Given the description of an element on the screen output the (x, y) to click on. 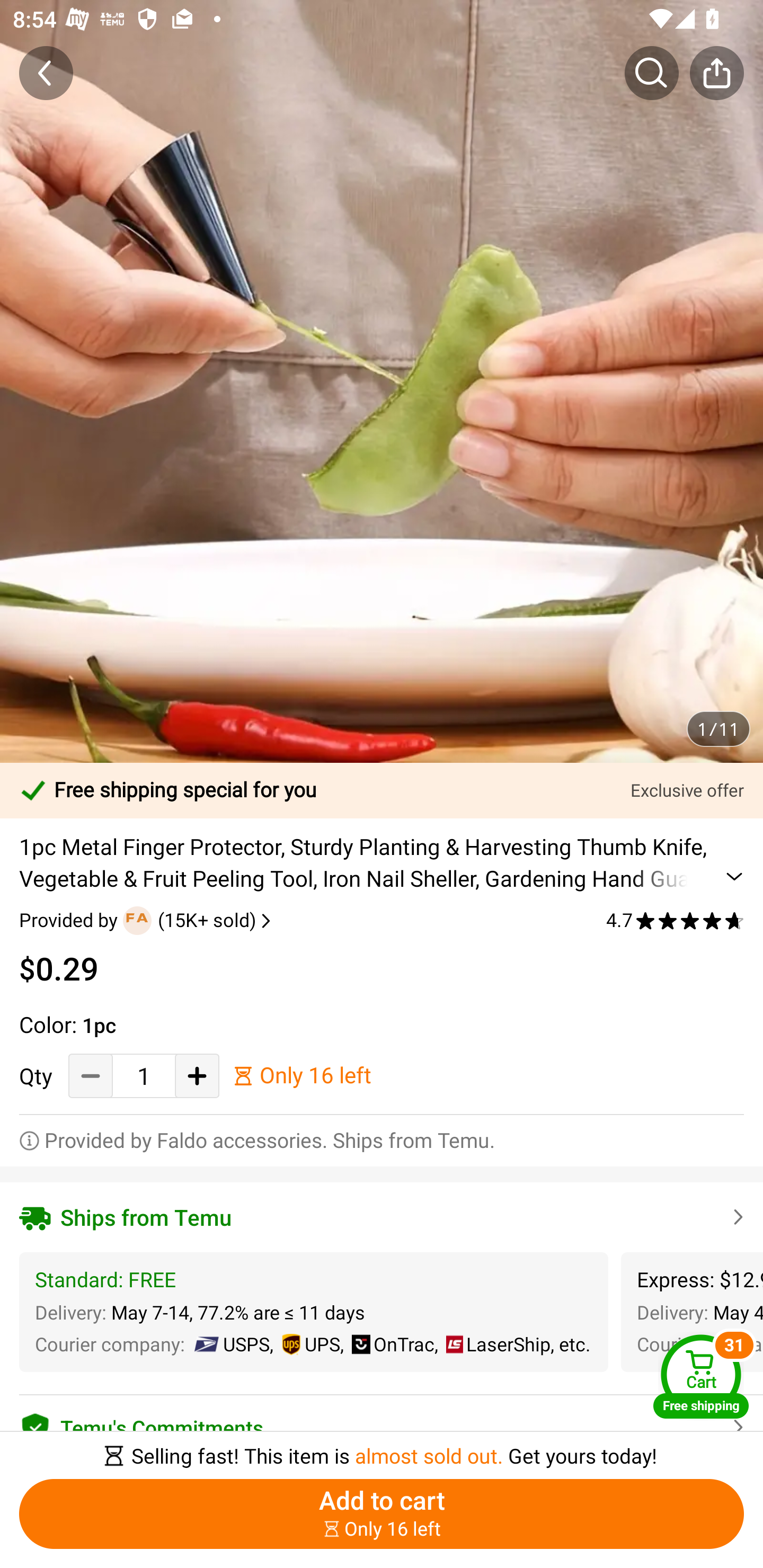
Back (46, 72)
Share (716, 72)
Free shipping special for you Exclusive offer (381, 790)
By null(15K+ sold) Provided by  (15K+ sold) (147, 920)
Provided by  (70, 920)
4.7 (674, 920)
Decrease Quantity Button (90, 1075)
Add Quantity button (196, 1075)
1 (143, 1076)
Ships from Temu (381, 1217)
Cart Free shipping Cart (701, 1375)
Add to cart ￼￼Only 16 left (381, 1513)
